Given the description of an element on the screen output the (x, y) to click on. 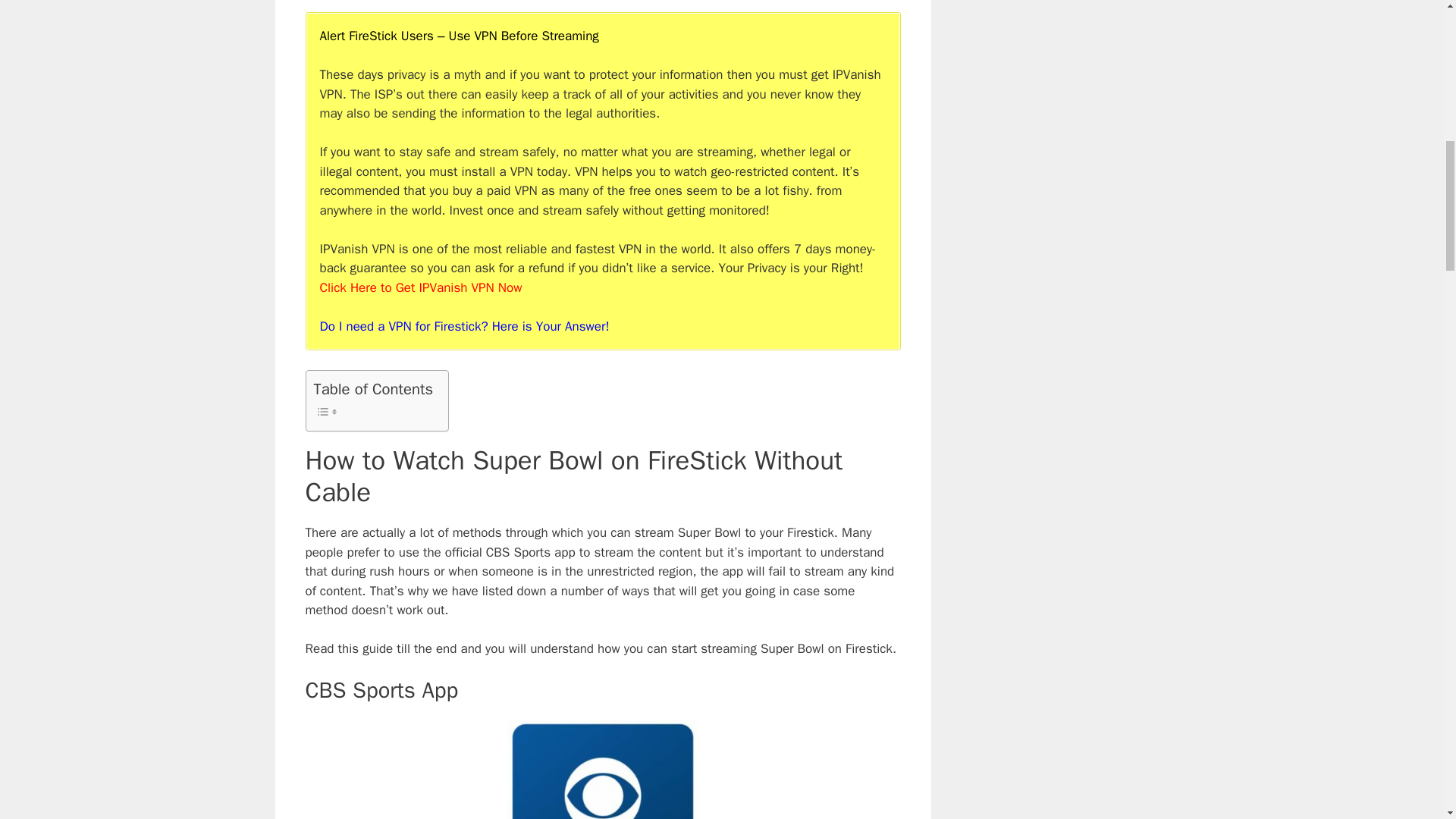
Click Here to Get IPVanish VPN Now (421, 287)
IPVanish (421, 287)
Do I need a VPN for Firestick? Here is Your Answer! (465, 326)
